Given the description of an element on the screen output the (x, y) to click on. 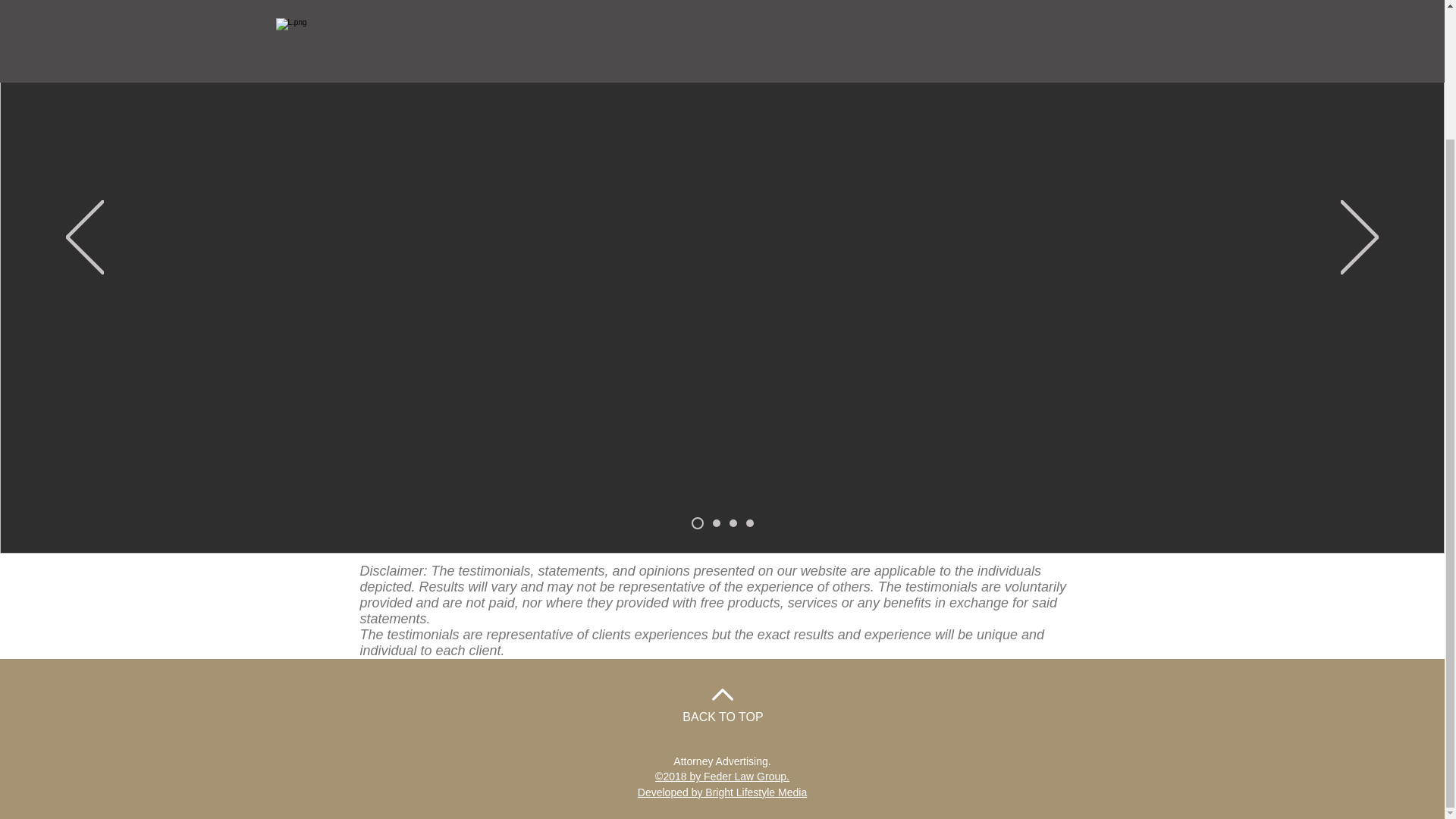
Developed by Bright Lifestyle Media (721, 792)
BACK TO TOP (722, 716)
Attorney Advertising. (721, 761)
